Given the description of an element on the screen output the (x, y) to click on. 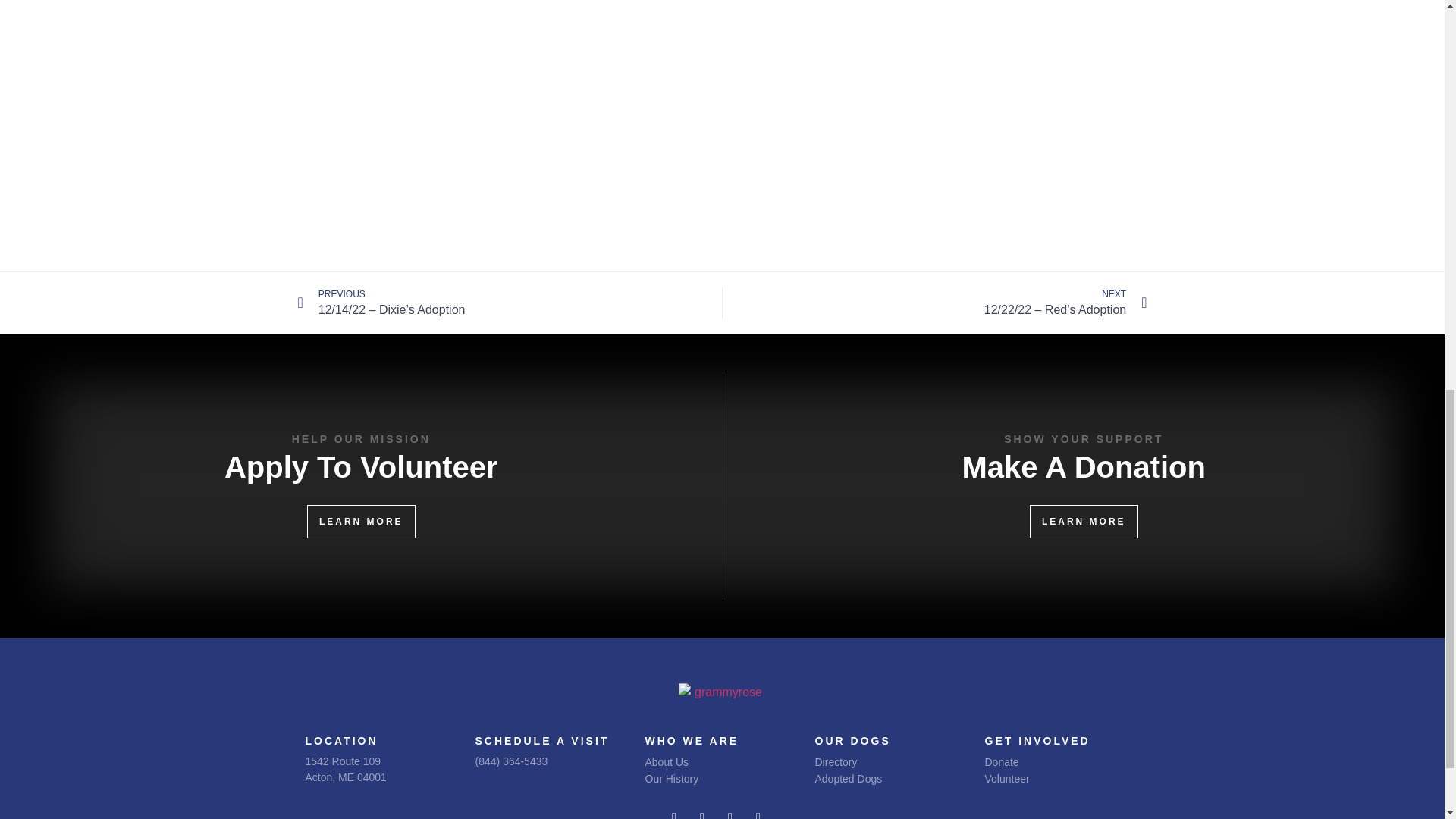
LEARN MORE (1083, 521)
About Us (708, 761)
LEARN MORE (360, 521)
Our History (708, 778)
Directory (884, 761)
